Given the description of an element on the screen output the (x, y) to click on. 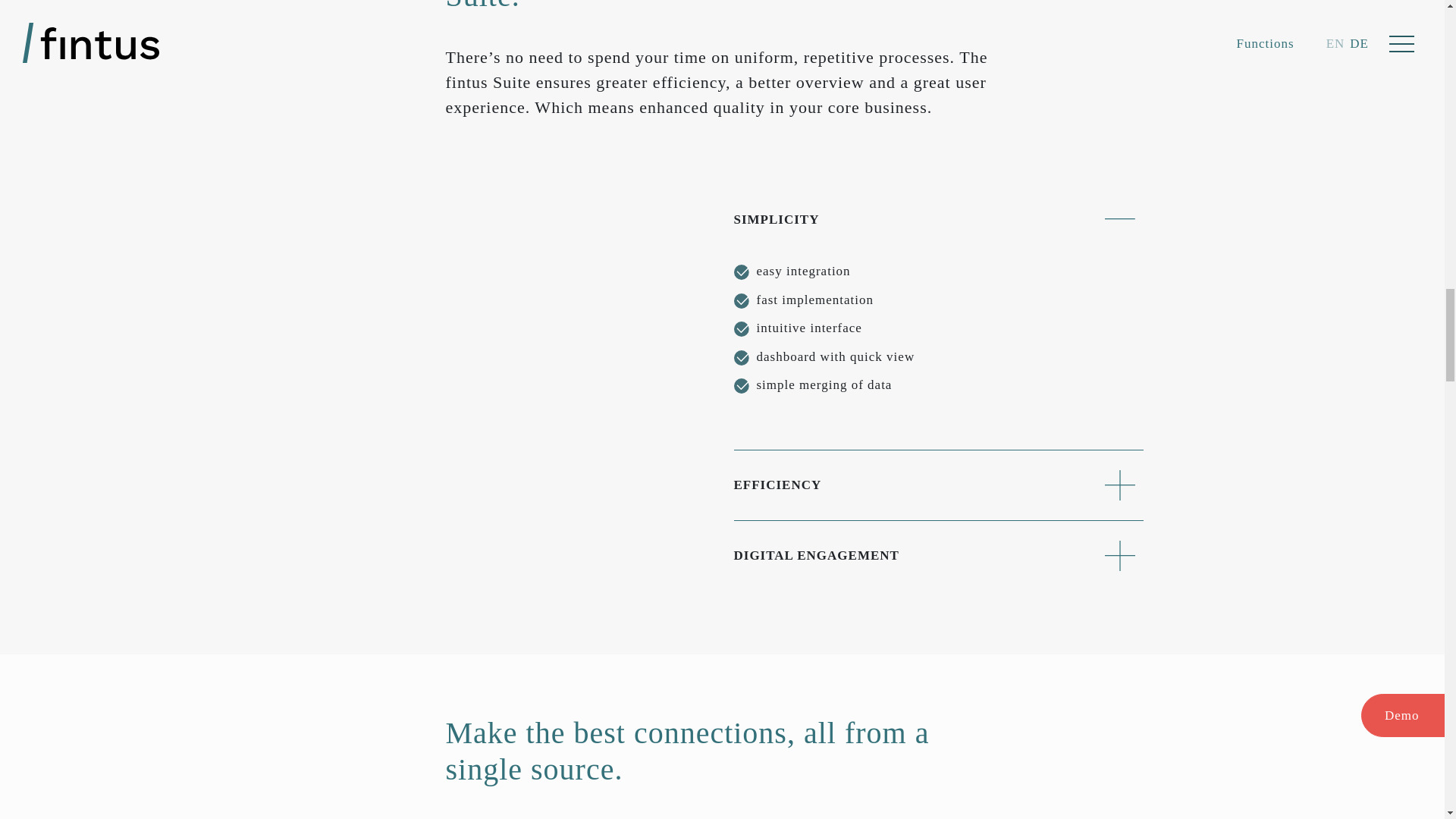
DIGITAL ENGAGEMENT (937, 555)
SIMPLICITY (937, 218)
EFFICIENCY (937, 485)
